Given the description of an element on the screen output the (x, y) to click on. 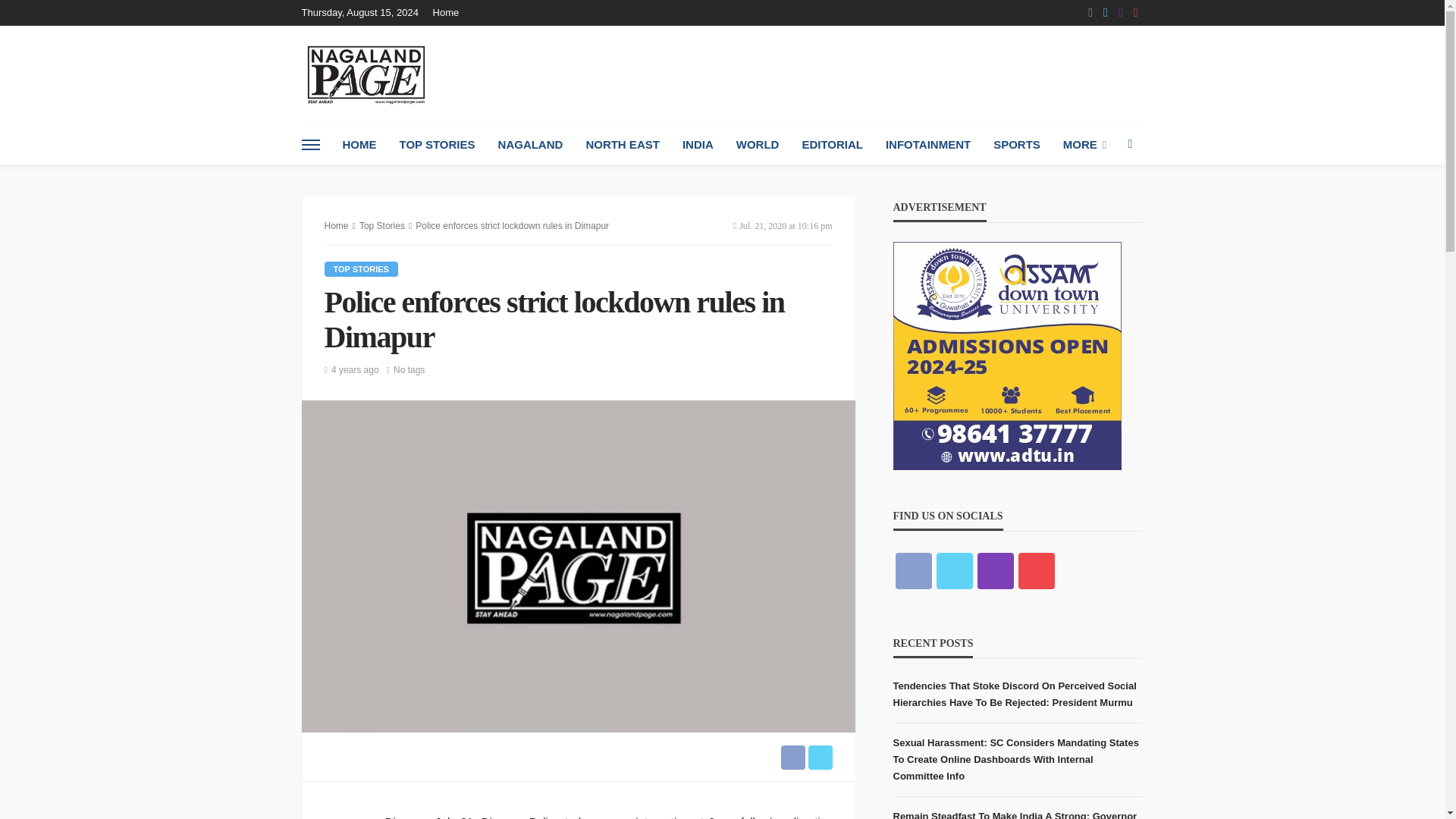
INDIA (698, 144)
HOME (358, 144)
NORTH EAST (622, 144)
WORLD (757, 144)
TOP STORIES (437, 144)
Advertisement (866, 74)
Home (449, 12)
EDITORIAL (832, 144)
NAGALAND (530, 144)
